Given the description of an element on the screen output the (x, y) to click on. 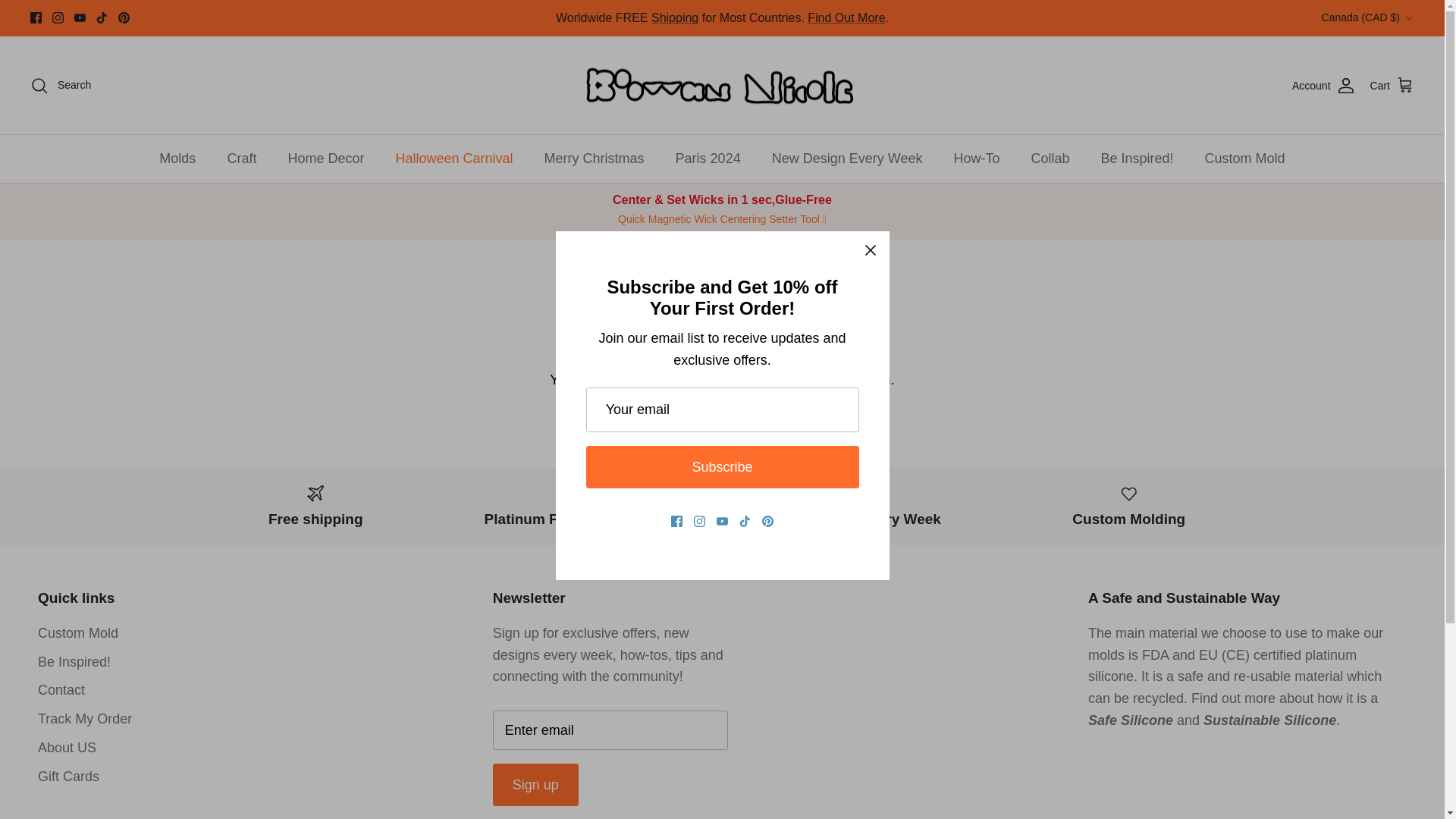
Instagram (58, 17)
Youtube (79, 17)
Is Silicone Sustainable? (1270, 720)
Instagram (58, 17)
Boowan Nicole (721, 85)
Facebook (36, 17)
Pinterest (123, 17)
Youtube (79, 17)
Is Silicone Safe? (1130, 720)
Shipping Policy (674, 17)
Shipping Policy (846, 17)
Shipping (674, 17)
Pinterest (123, 17)
Find Out More (846, 17)
Down (1408, 18)
